Given the description of an element on the screen output the (x, y) to click on. 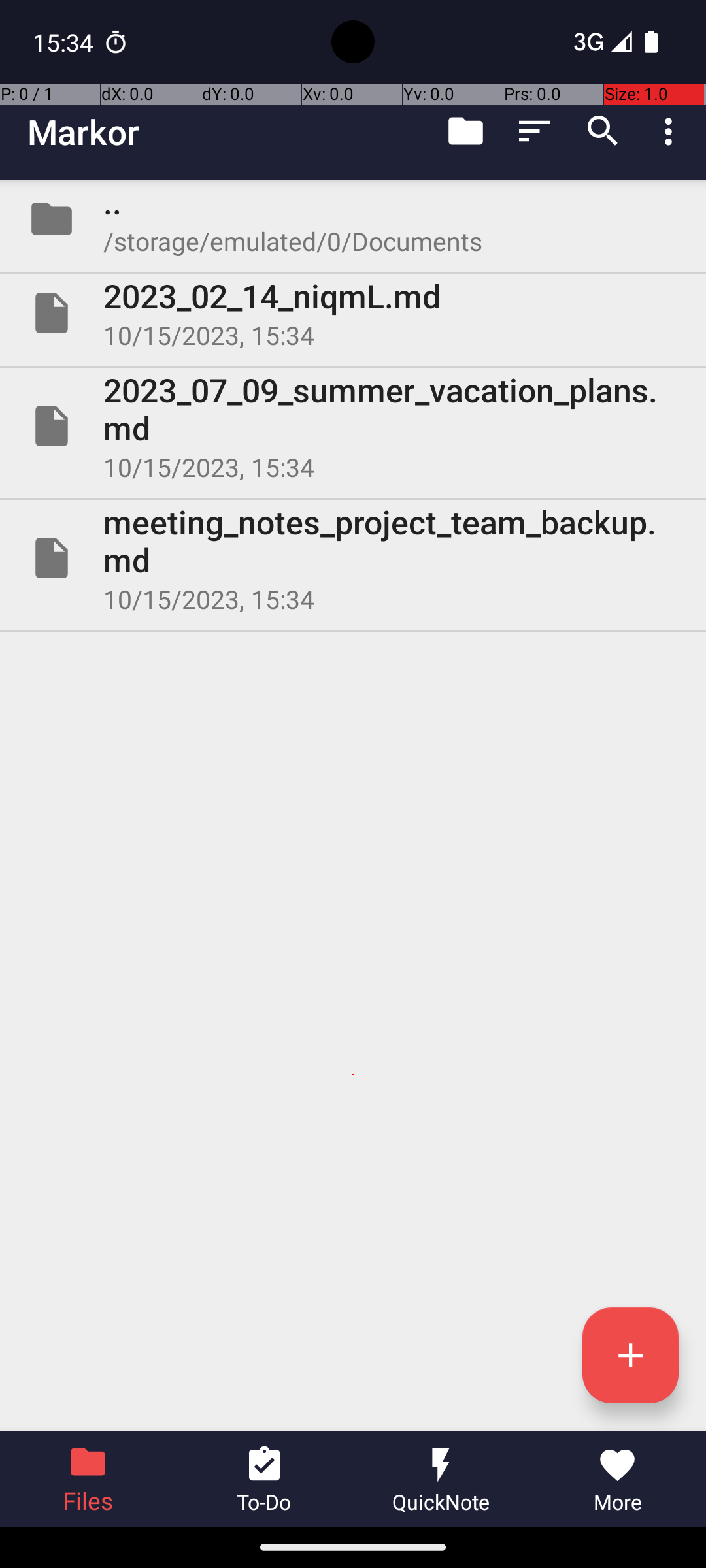
File 2023_02_14_niqmL.md  Element type: android.widget.LinearLayout (353, 312)
File 2023_07_09_summer_vacation_plans.md  Element type: android.widget.LinearLayout (353, 425)
File meeting_notes_project_team_backup.md  Element type: android.widget.LinearLayout (353, 557)
